Given the description of an element on the screen output the (x, y) to click on. 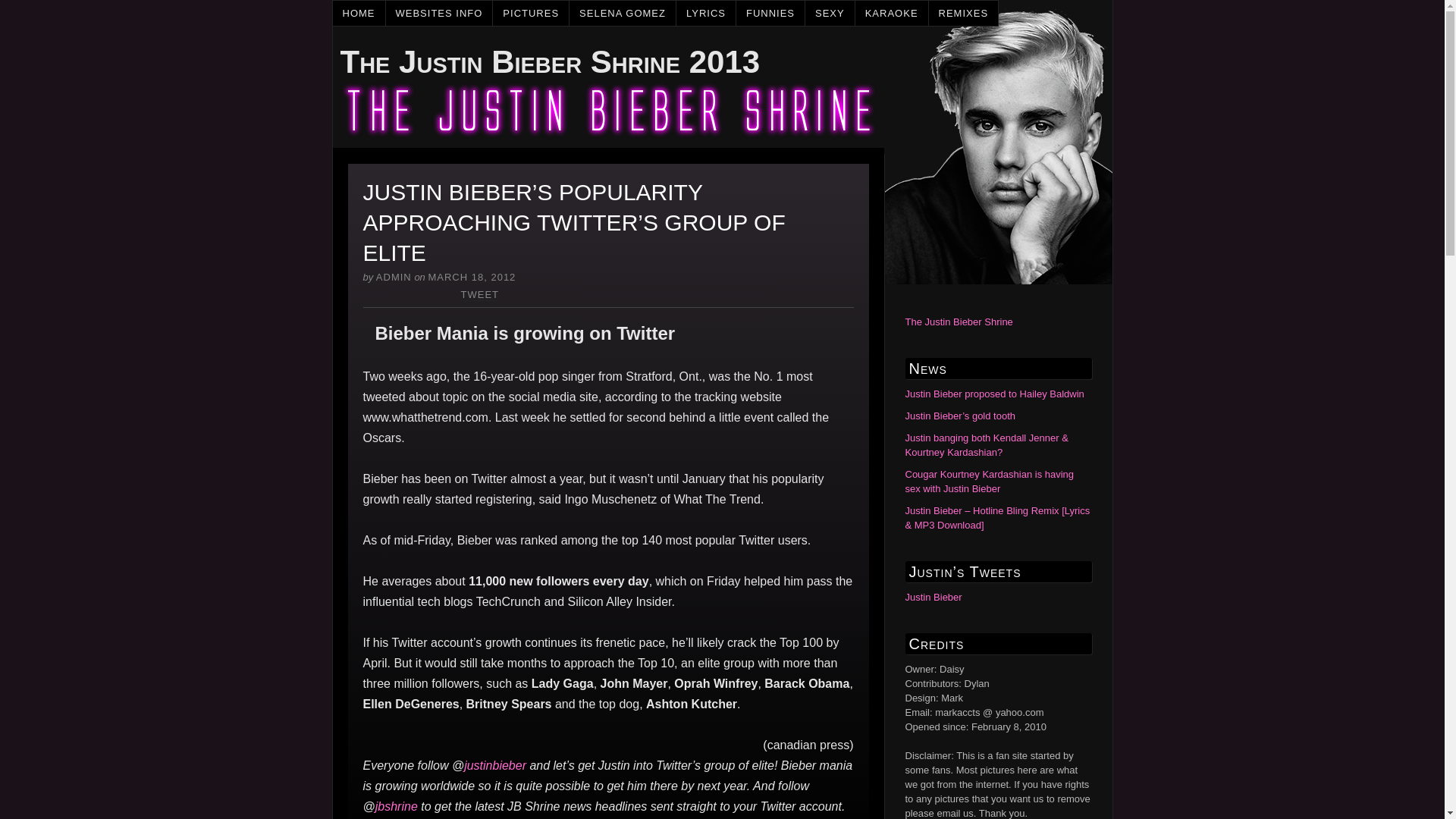
Justin Bieber (933, 596)
Justin Bieber proposed to Hailey Baldwin (994, 393)
LYRICS (706, 13)
FUNNIES (770, 13)
REMIXES (963, 13)
justinbieber (494, 765)
jbshrine (396, 806)
TWEET (480, 295)
HOME (358, 13)
WEBSITES INFO (439, 13)
PICTURES (531, 13)
SELENA GOMEZ (623, 13)
2012-03-18 (471, 276)
Cougar Kourtney Kardashian is having sex with Justin Bieber (989, 481)
The Justin Bieber Shrine (959, 321)
